Given the description of an element on the screen output the (x, y) to click on. 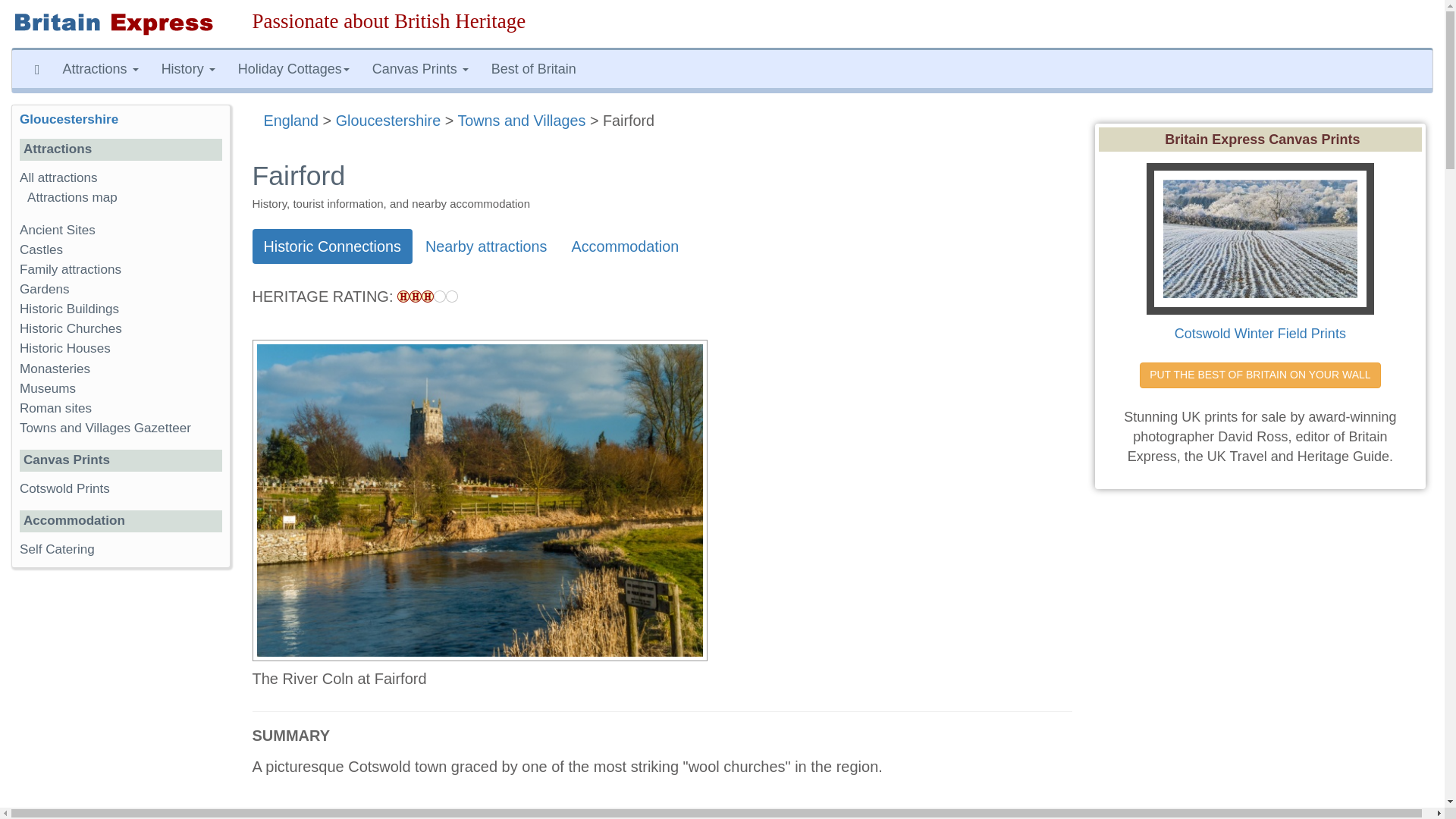
Towns and Villages (521, 120)
Britain Express home page (120, 23)
Nearby attractions (486, 246)
Historic Connections (331, 246)
Advertisement (119, 702)
Gloucestershire (388, 120)
Advertisement (1263, 661)
England (290, 120)
History (188, 68)
Holiday Cottages (294, 68)
Attractions (99, 68)
Canvas Prints (420, 68)
Best of Britain (534, 68)
Accommodation (624, 246)
